Given the description of an element on the screen output the (x, y) to click on. 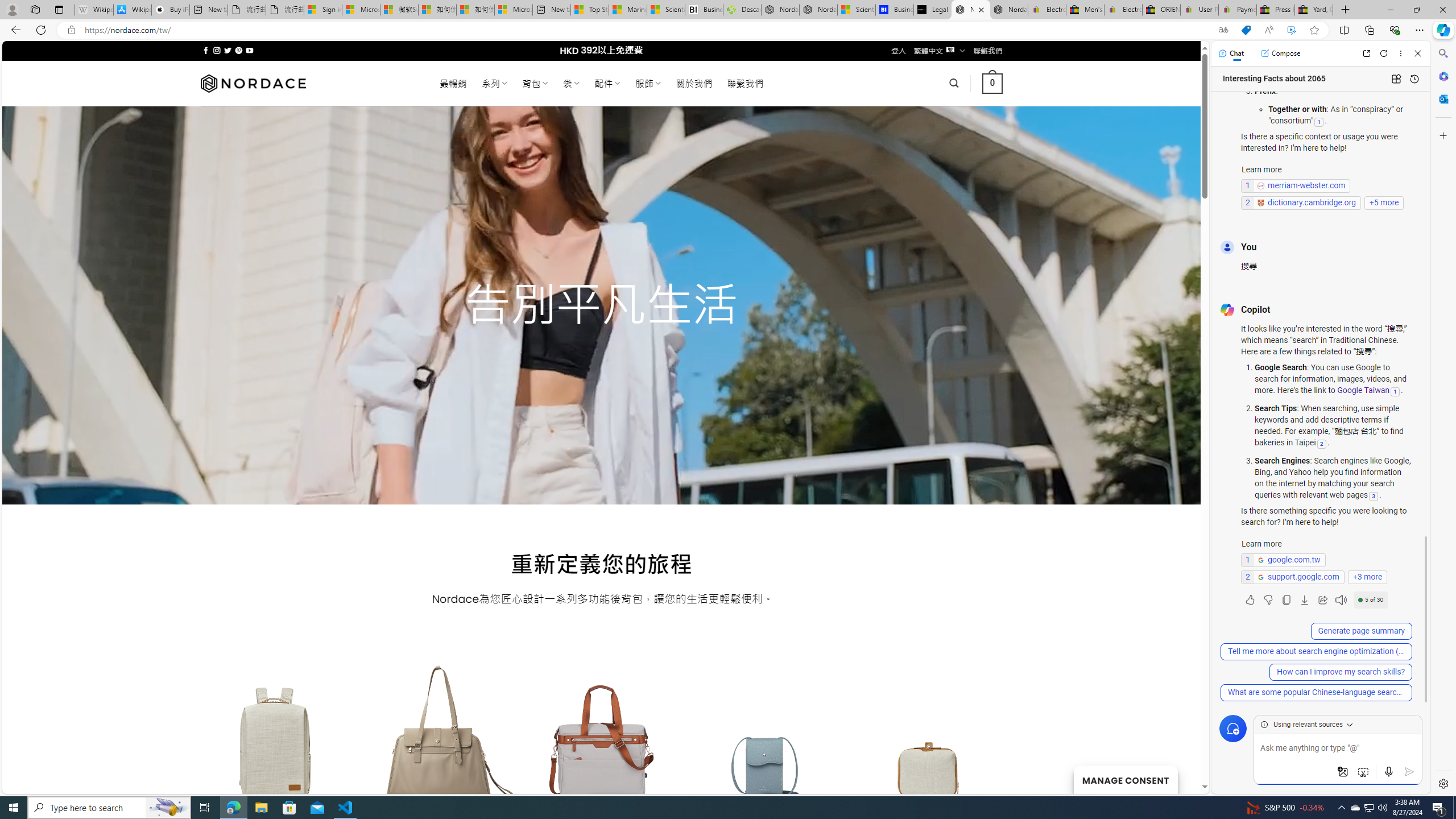
Follow on Pinterest (237, 50)
Buy iPad - Apple (171, 9)
Follow on Facebook (205, 50)
